Given the description of an element on the screen output the (x, y) to click on. 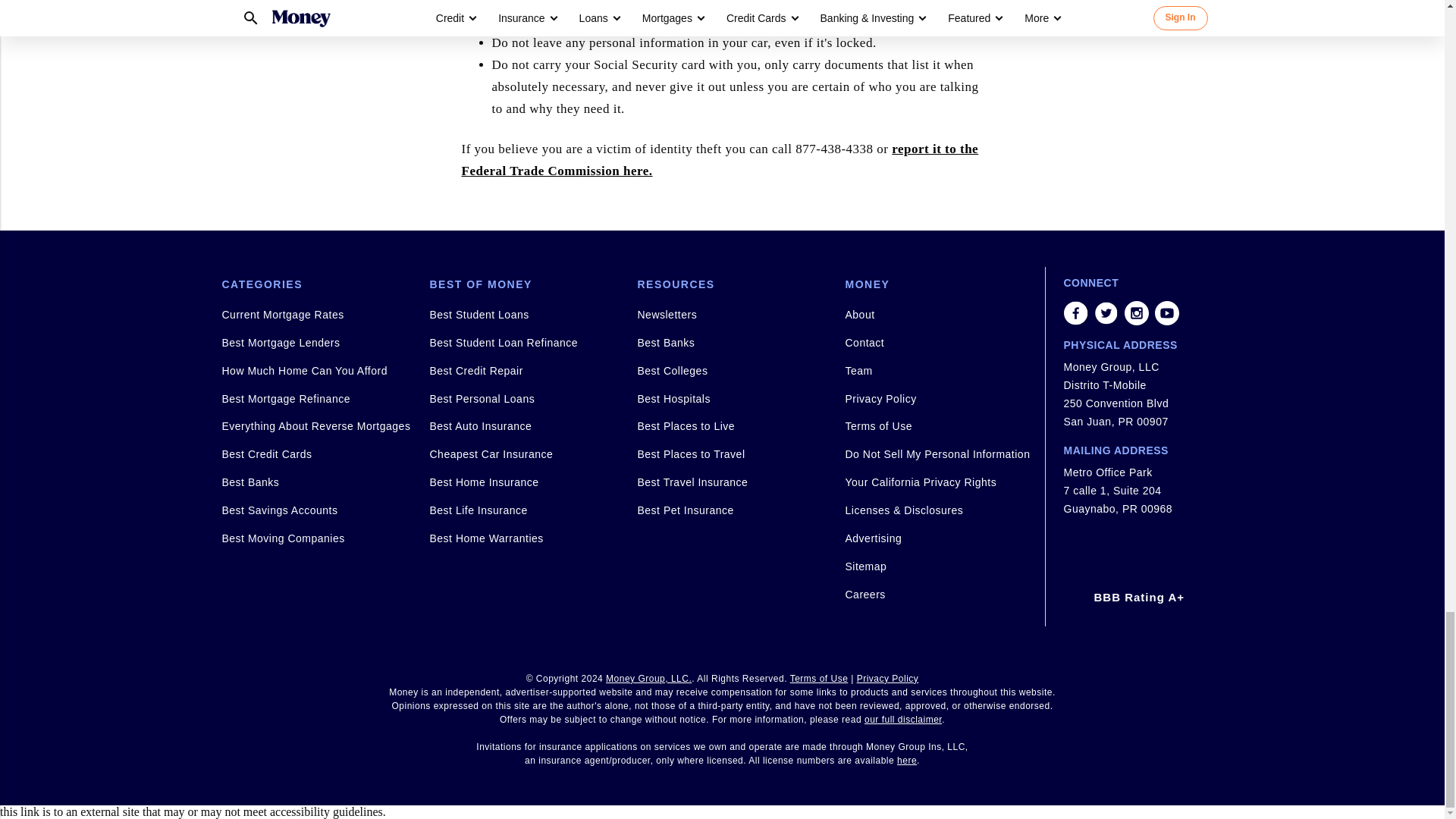
youtube share (1165, 313)
twitter share (1105, 313)
instagram share (1136, 313)
facebook share (1074, 313)
